Given the description of an element on the screen output the (x, y) to click on. 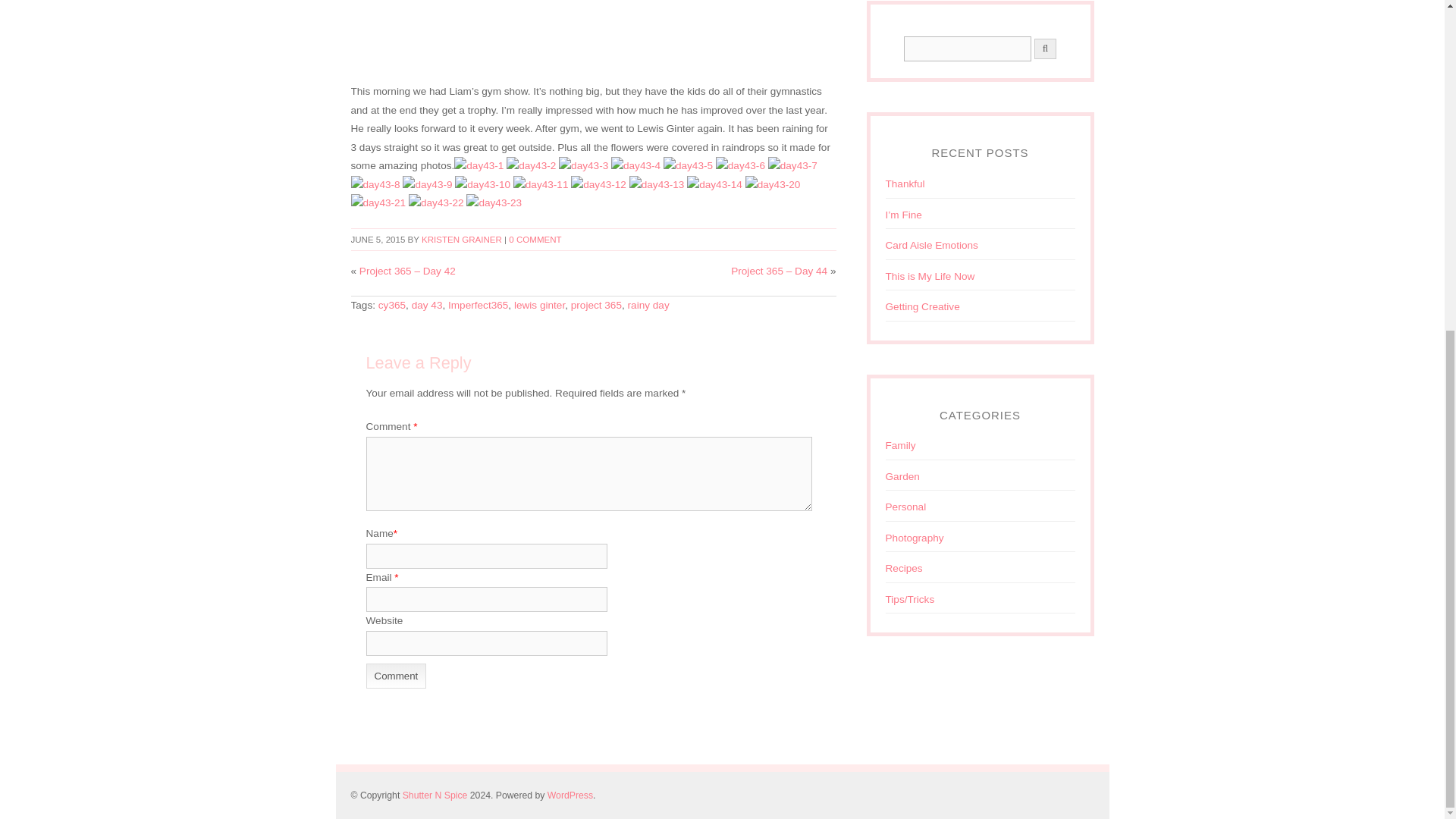
Imperfect365 (478, 305)
cy365 (392, 305)
0 COMMENT (534, 239)
Theme designed by BluChic (1073, 795)
KRISTEN GRAINER (462, 239)
Comment (395, 675)
Search (967, 48)
day 43 (427, 305)
